Given the description of an element on the screen output the (x, y) to click on. 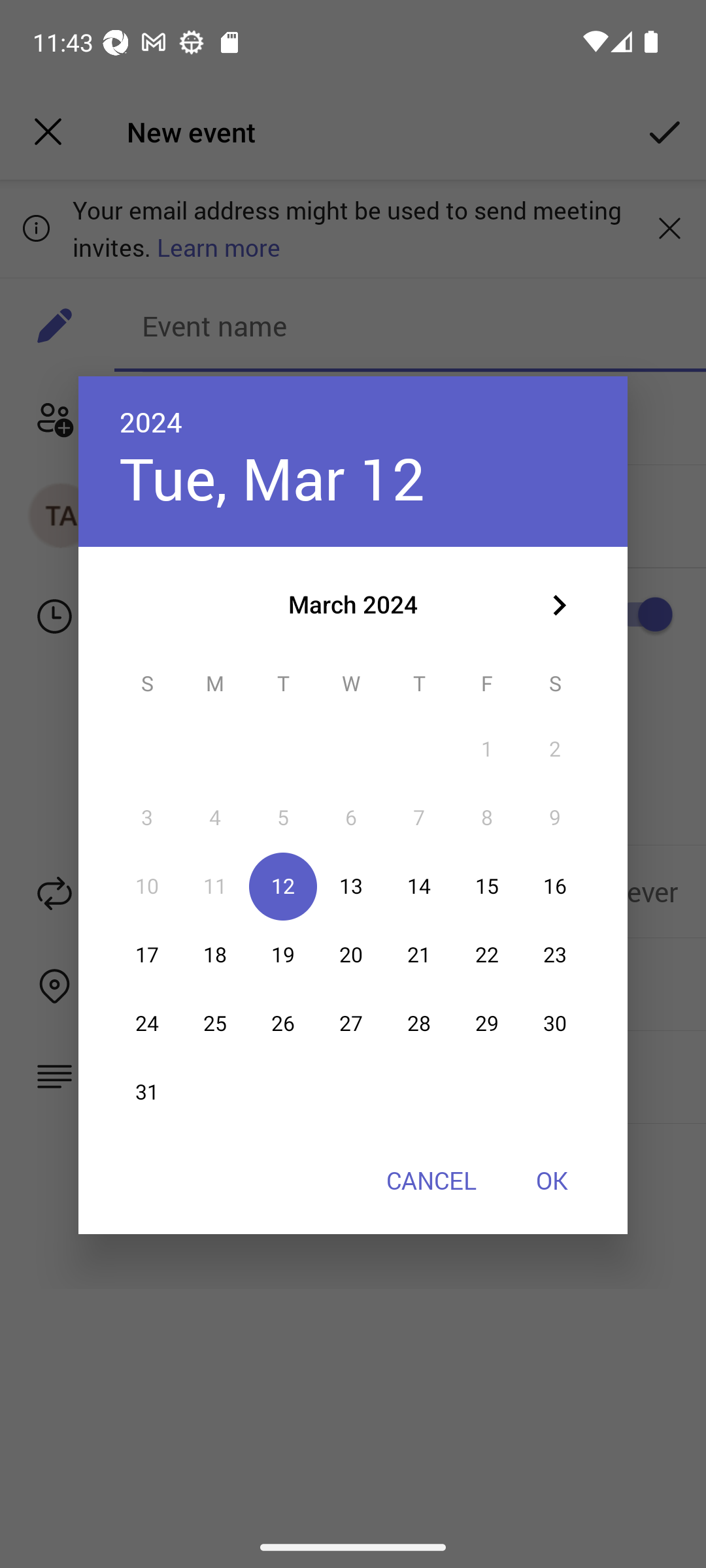
2024 (150, 421)
Tue, Mar 12 (272, 477)
Next month (558, 605)
1 01 March 2024 (487, 749)
2 02 March 2024 (554, 749)
3 03 March 2024 (146, 818)
4 04 March 2024 (214, 818)
5 05 March 2024 (282, 818)
6 06 March 2024 (350, 818)
7 07 March 2024 (418, 818)
8 08 March 2024 (487, 818)
9 09 March 2024 (554, 818)
10 10 March 2024 (146, 886)
11 11 March 2024 (214, 886)
12 12 March 2024 (282, 886)
13 13 March 2024 (350, 886)
14 14 March 2024 (418, 886)
15 15 March 2024 (487, 886)
16 16 March 2024 (554, 886)
17 17 March 2024 (146, 955)
18 18 March 2024 (214, 955)
19 19 March 2024 (282, 955)
20 20 March 2024 (350, 955)
21 21 March 2024 (418, 955)
22 22 March 2024 (487, 955)
23 23 March 2024 (554, 955)
24 24 March 2024 (146, 1023)
25 25 March 2024 (214, 1023)
26 26 March 2024 (282, 1023)
27 27 March 2024 (350, 1023)
28 28 March 2024 (418, 1023)
29 29 March 2024 (487, 1023)
30 30 March 2024 (554, 1023)
31 31 March 2024 (146, 1092)
CANCEL (431, 1179)
OK (551, 1179)
